Given the description of an element on the screen output the (x, y) to click on. 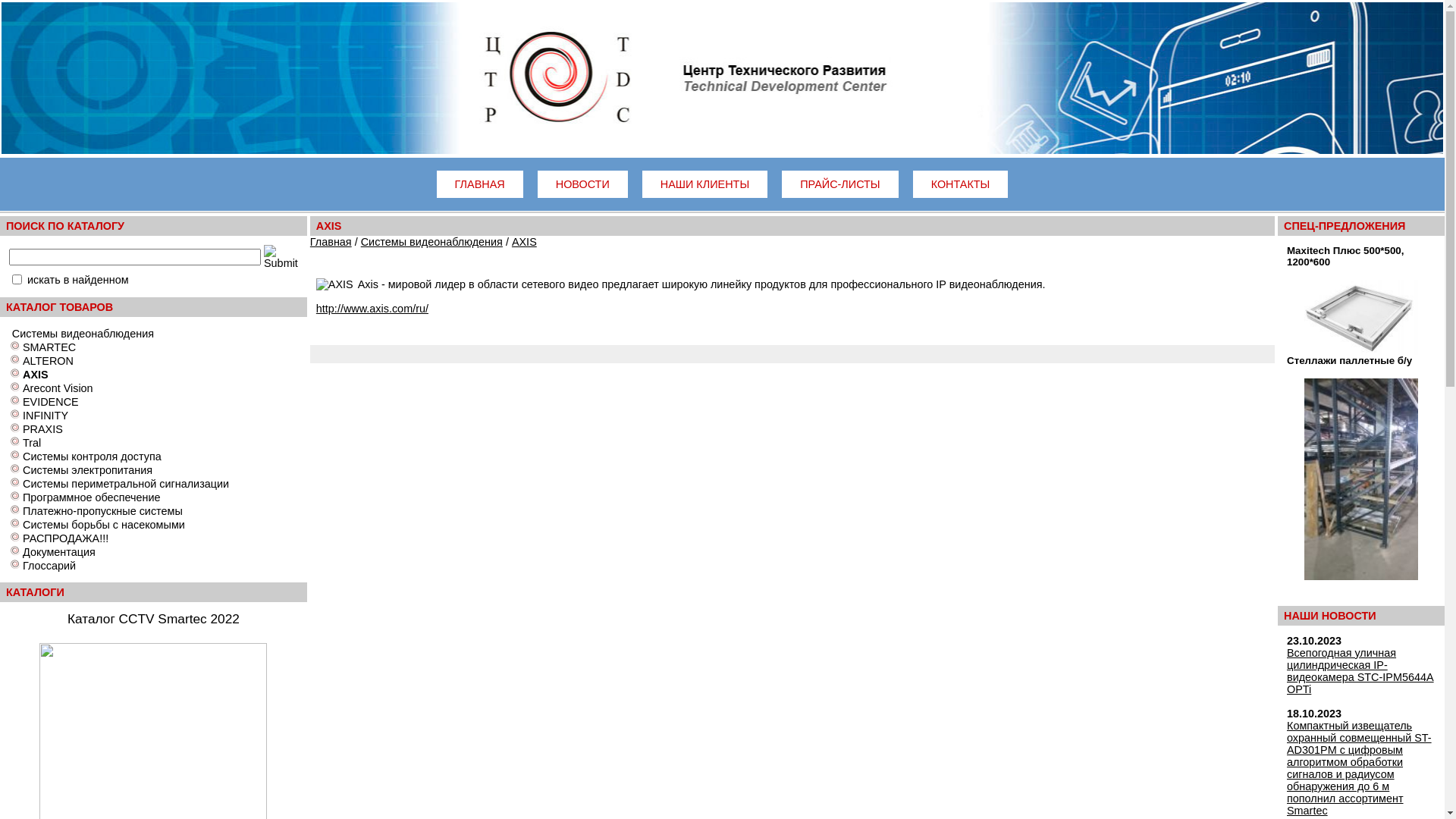
PRAXIS Element type: text (42, 429)
Tral Element type: text (31, 442)
INFINITY Element type: text (45, 415)
SMARTEC Element type: text (48, 347)
AXIS Element type: text (523, 241)
http://www.axis.com/ru/ Element type: text (372, 308)
Arecont Vision Element type: text (57, 388)
ALTERON Element type: text (47, 360)
AXIS Element type: text (35, 374)
EVIDENCE Element type: text (50, 401)
